Given the description of an element on the screen output the (x, y) to click on. 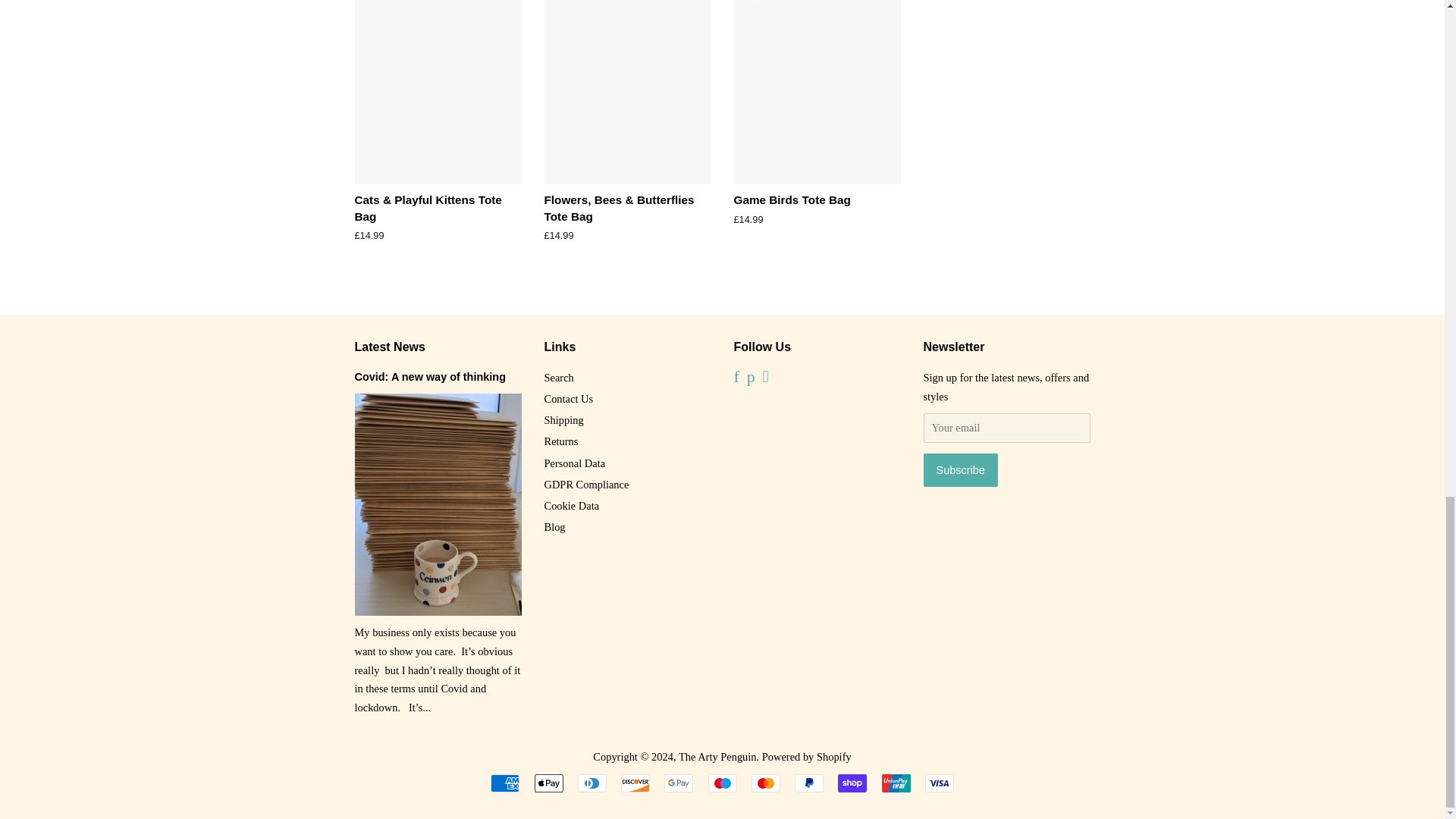
Visa (938, 782)
Google Pay (678, 782)
Diners Club (592, 782)
Discover (635, 782)
Shop Pay (852, 782)
Apple Pay (548, 782)
PayPal (809, 782)
Mastercard (765, 782)
Maestro (721, 782)
American Express (504, 782)
